Given the description of an element on the screen output the (x, y) to click on. 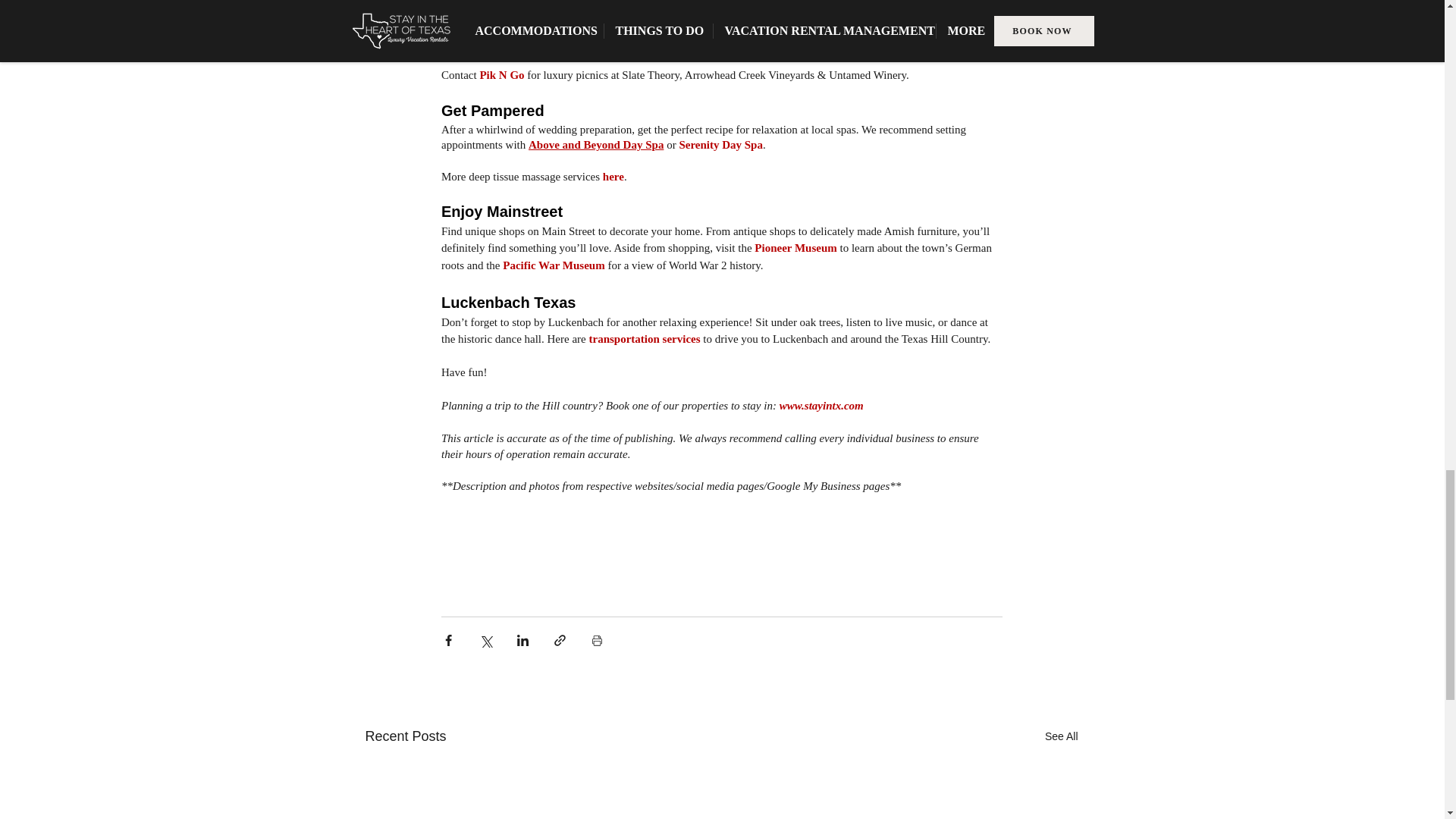
here (612, 176)
Above and Beyond Day Spa (594, 144)
here (520, 42)
transportation services (644, 338)
Pacific War Museum (553, 265)
Pioneer Museum (794, 247)
Serenity Day Spa (720, 144)
www.stayintx.com (820, 405)
here (548, 10)
See All (1061, 736)
Pik N Go (501, 74)
